Given the description of an element on the screen output the (x, y) to click on. 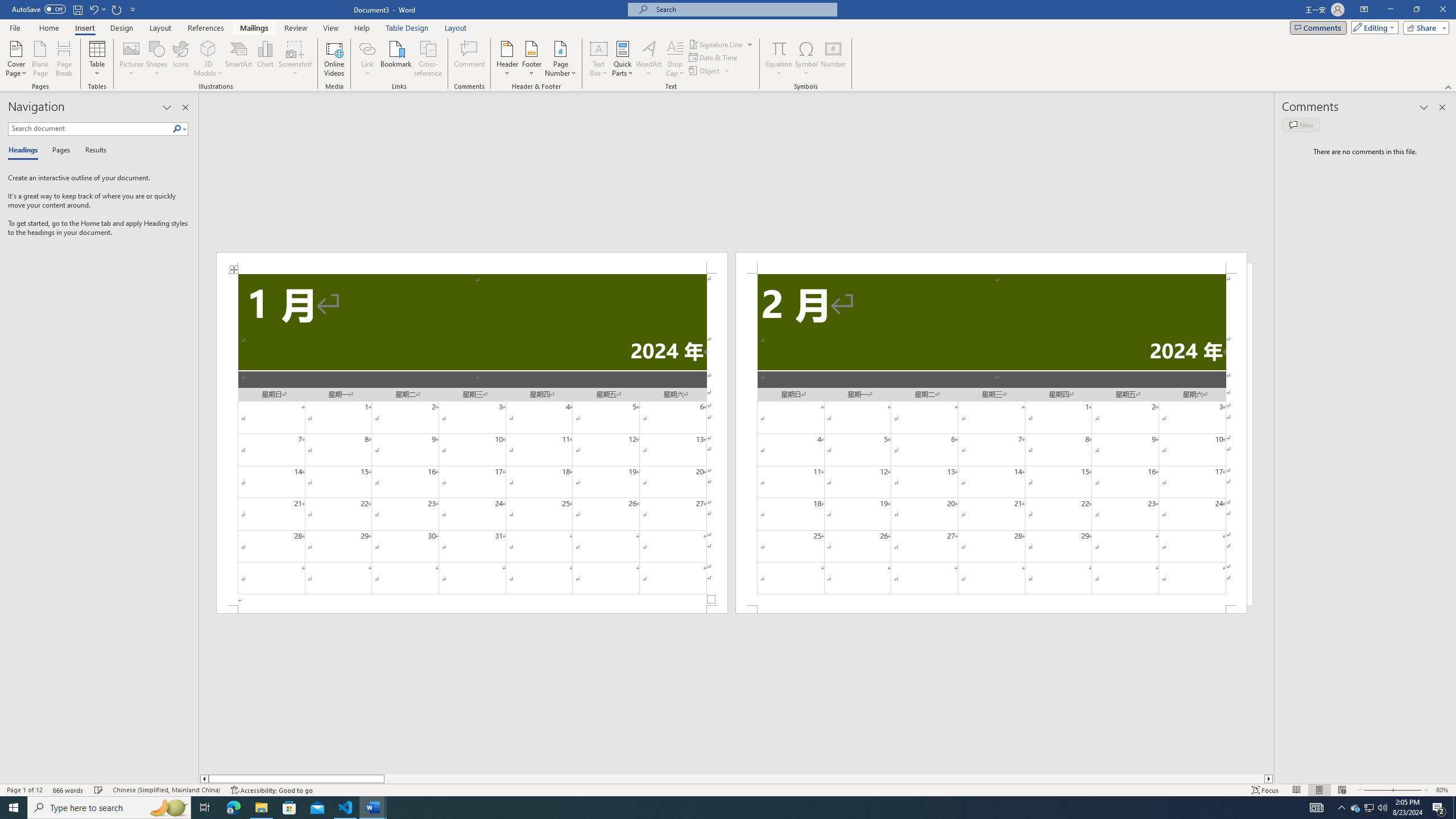
New comment (1300, 124)
Symbol (806, 58)
Link (367, 48)
Spelling and Grammar Check Checking (98, 790)
Chart... (265, 58)
Page Break (63, 58)
Page right (823, 778)
